Given the description of an element on the screen output the (x, y) to click on. 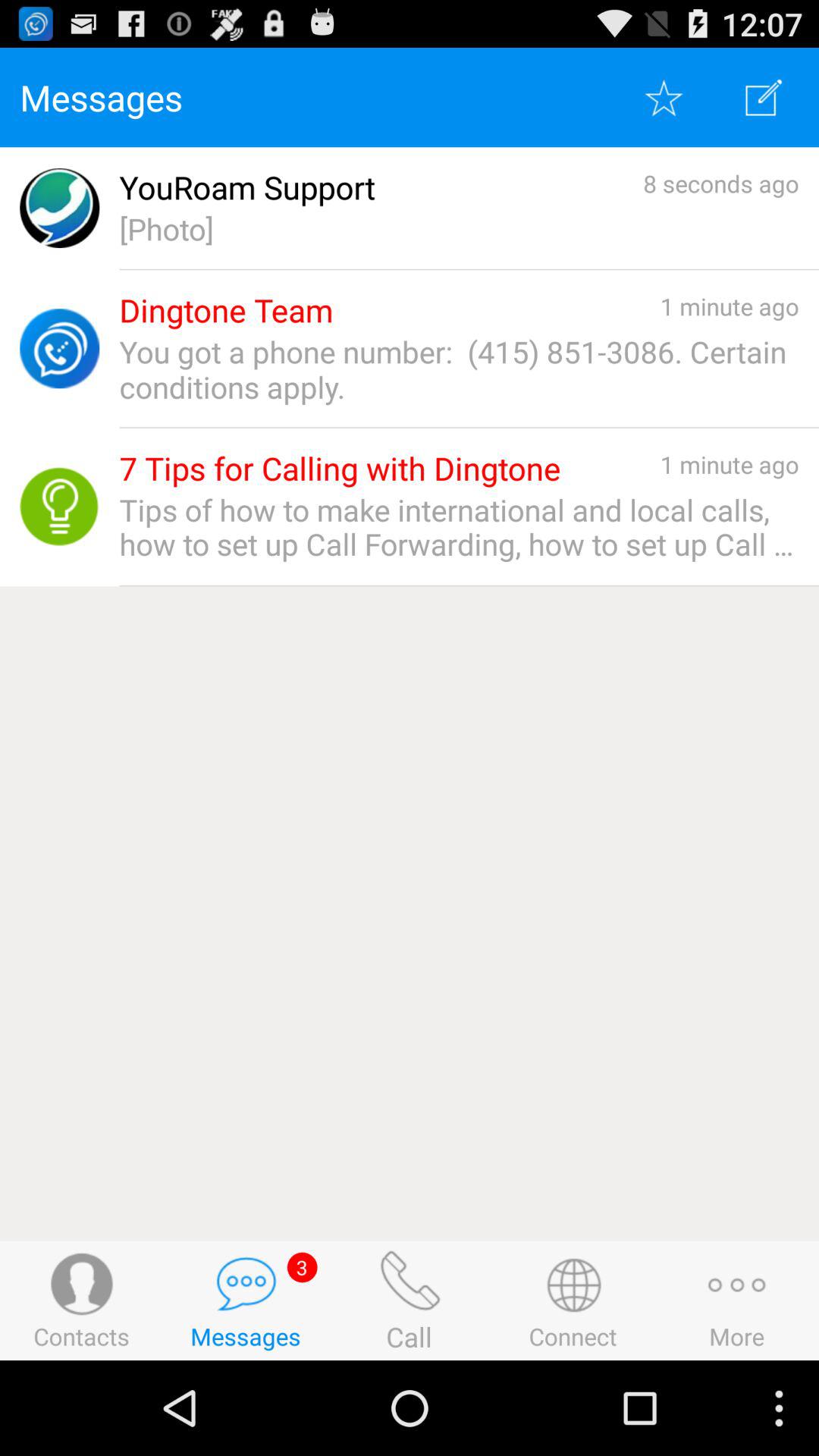
new message (763, 97)
